Given the description of an element on the screen output the (x, y) to click on. 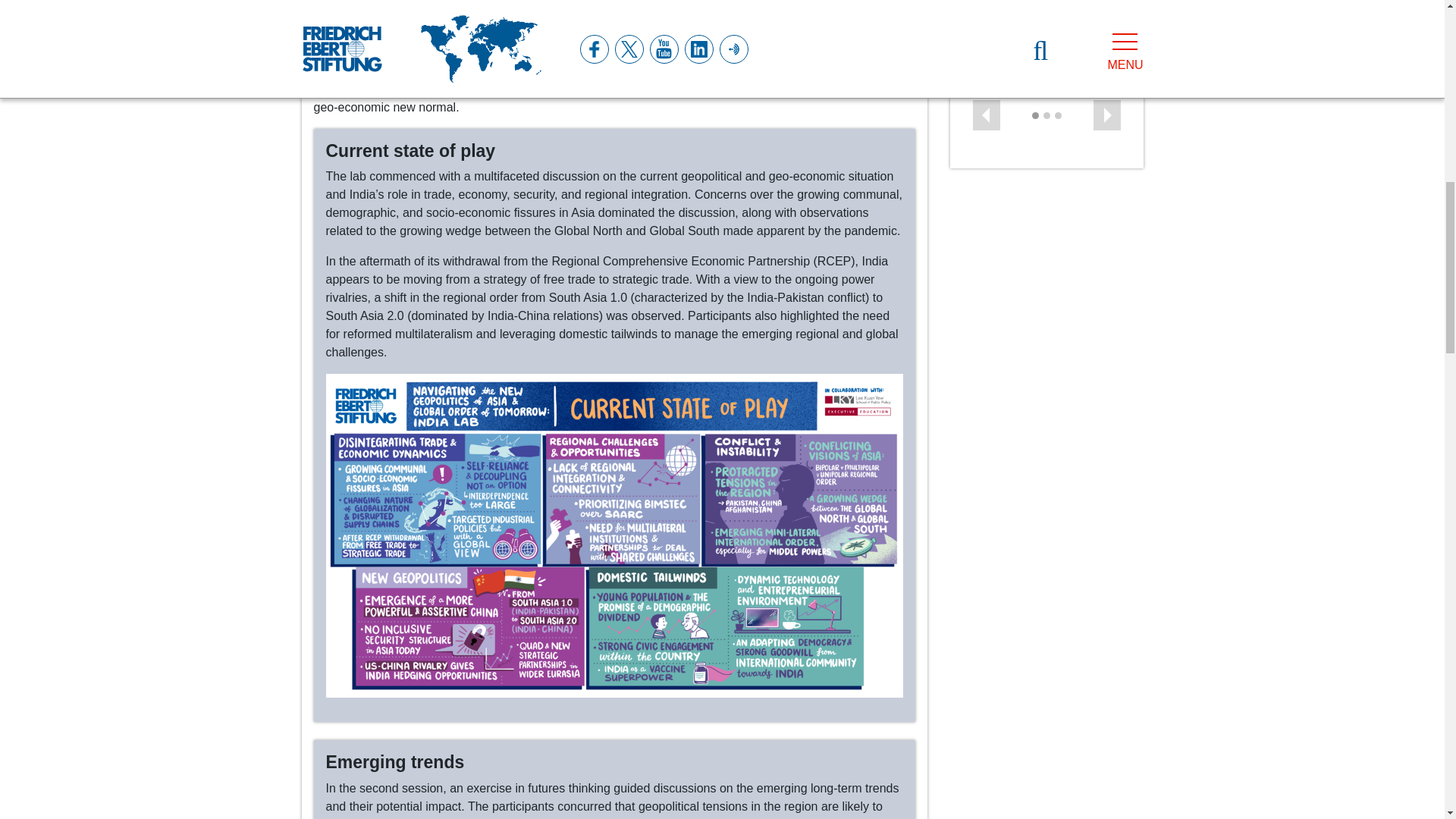
FES Asia India Geopolitics Lab Session 1 Final (614, 534)
